Given the description of an element on the screen output the (x, y) to click on. 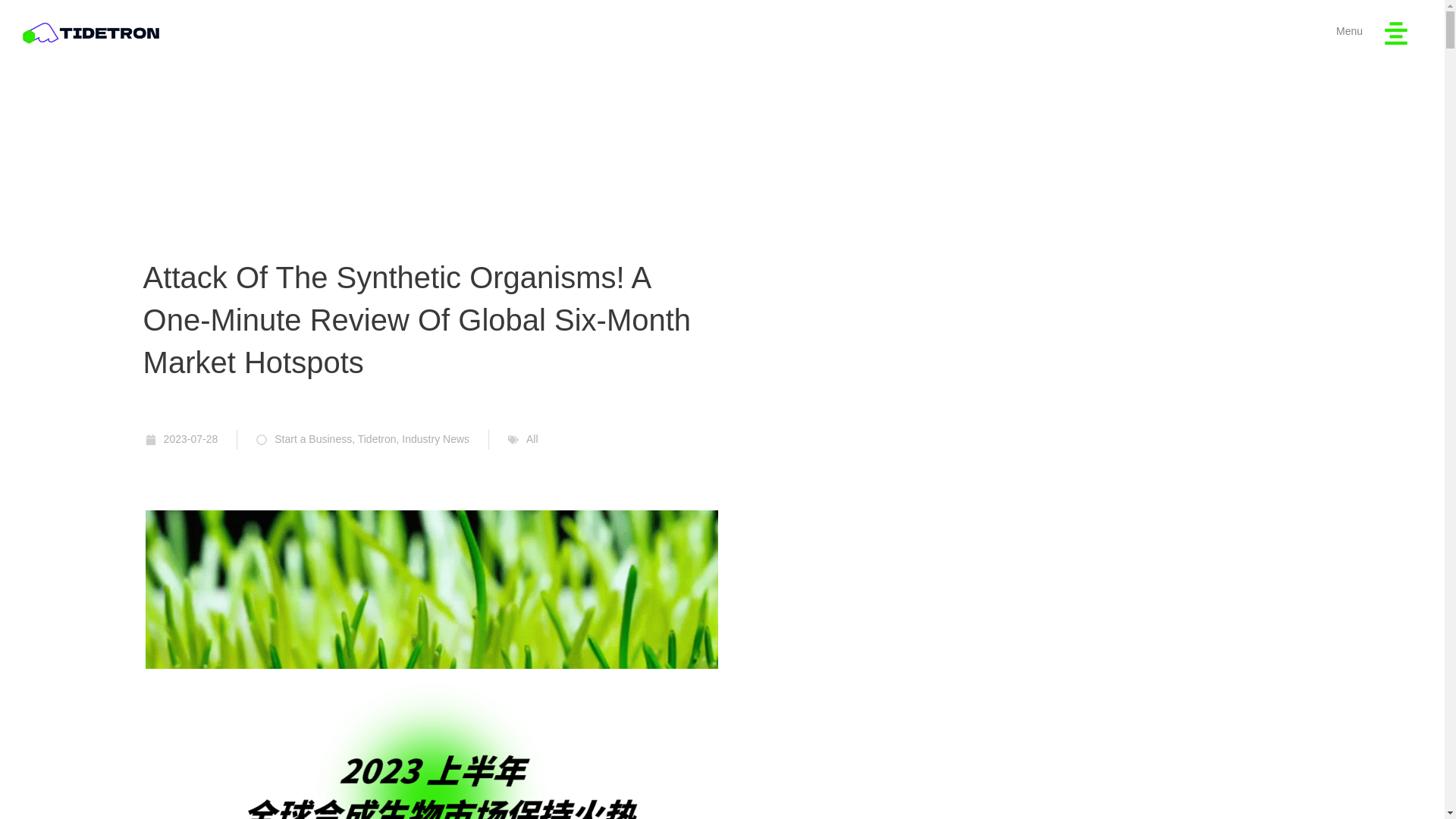
All (531, 439)
2023-07-28 (181, 439)
Start a Business (313, 439)
Tidetron (377, 439)
Industry News (434, 439)
